Given the description of an element on the screen output the (x, y) to click on. 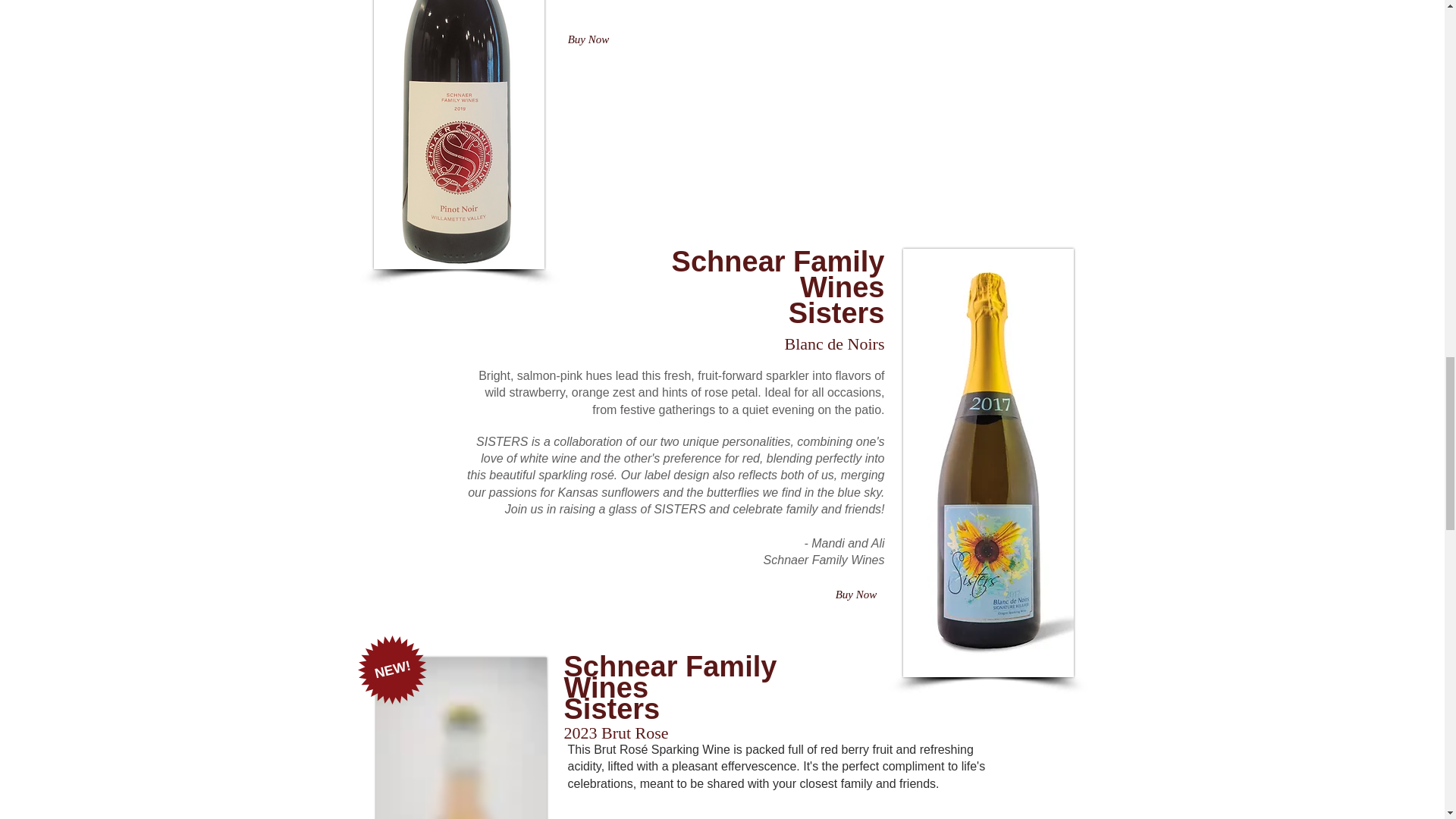
Buy Now (595, 817)
Buy Now (587, 39)
Buy Now (856, 594)
